Given the description of an element on the screen output the (x, y) to click on. 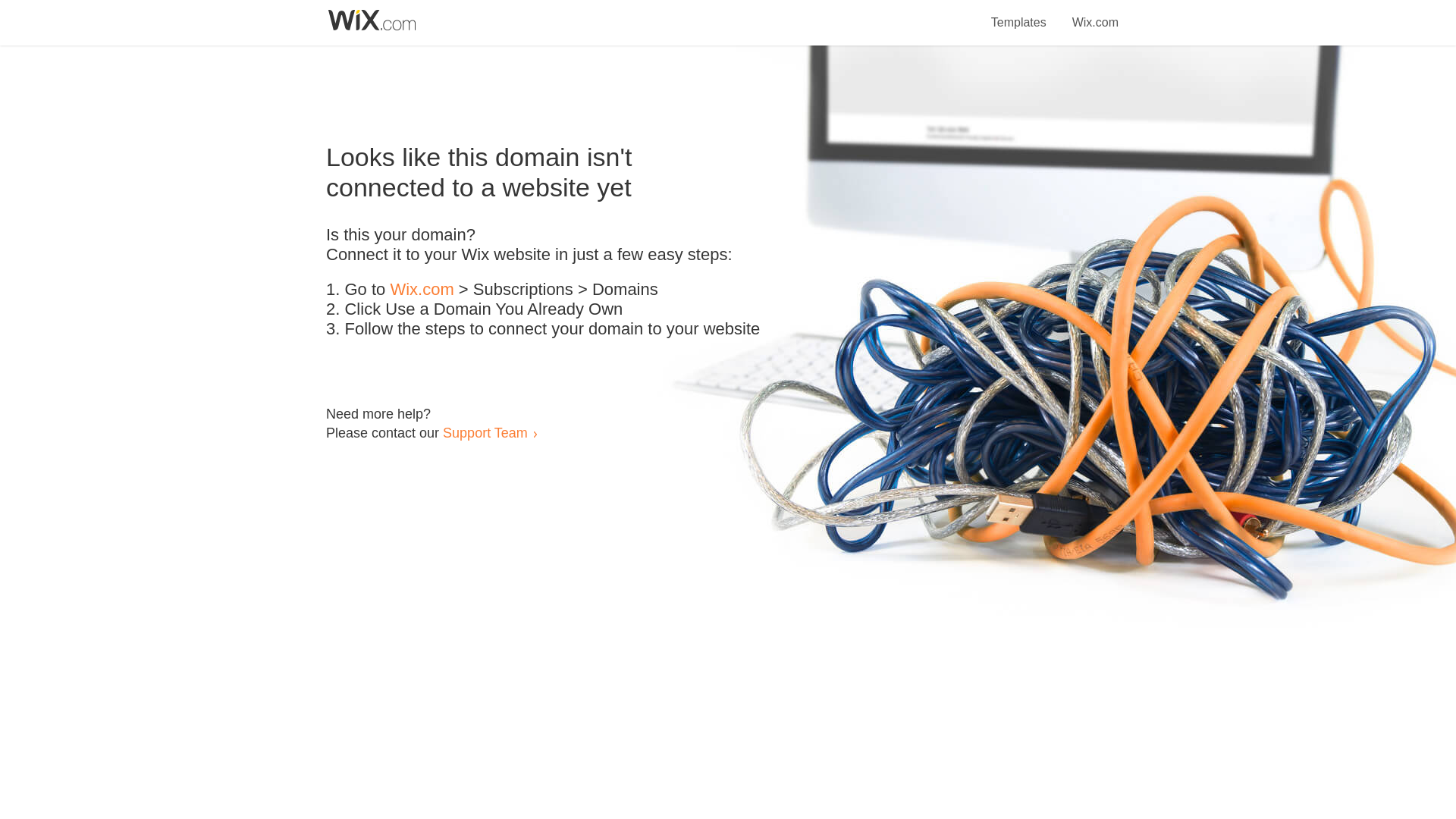
Support Team (484, 432)
Wix.com (421, 289)
Templates (1018, 14)
Wix.com (1095, 14)
